Given the description of an element on the screen output the (x, y) to click on. 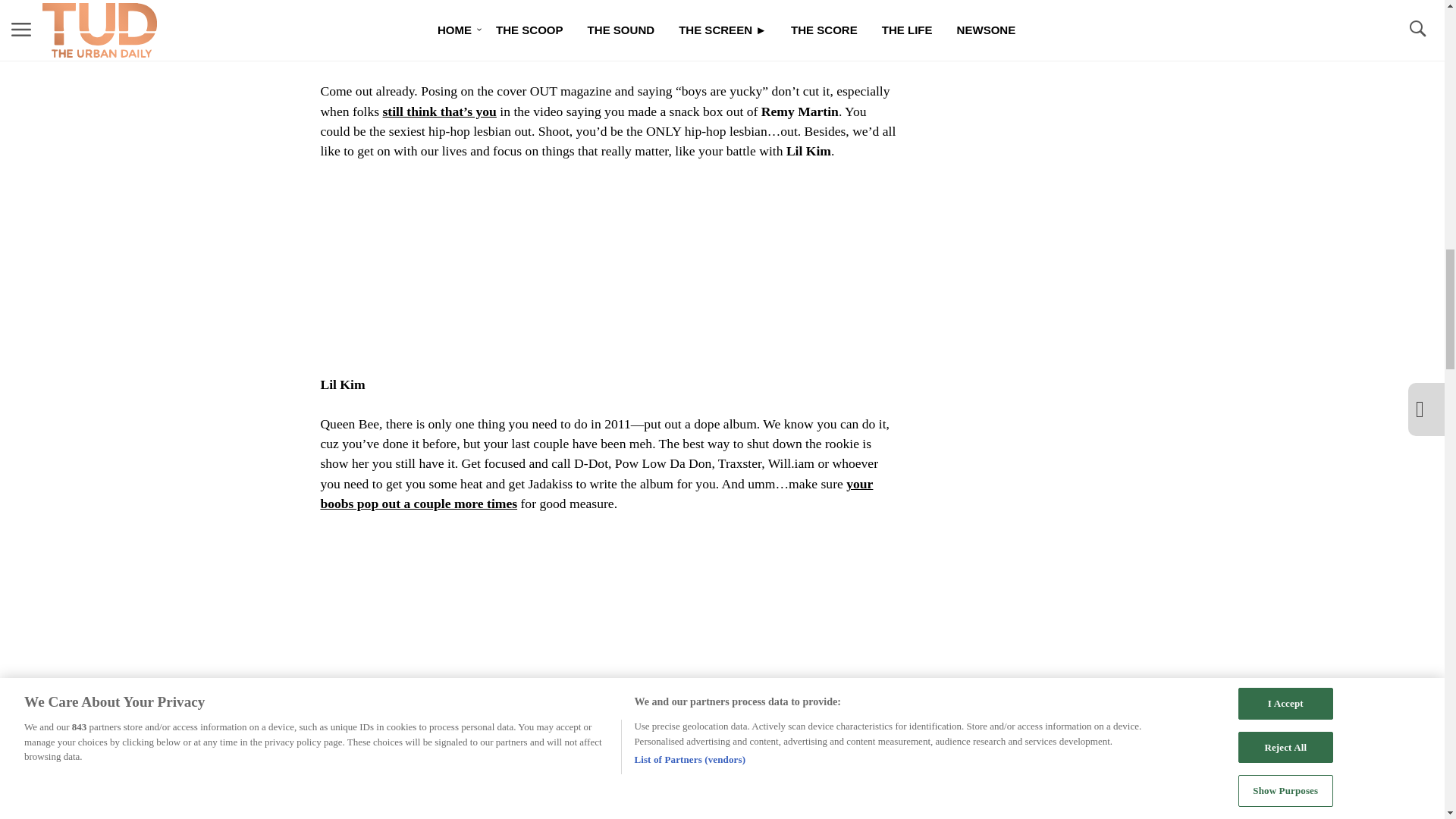
Rihanna was punkin you in interviews (600, 803)
your boobs pop out a couple more times (596, 493)
